Given the description of an element on the screen output the (x, y) to click on. 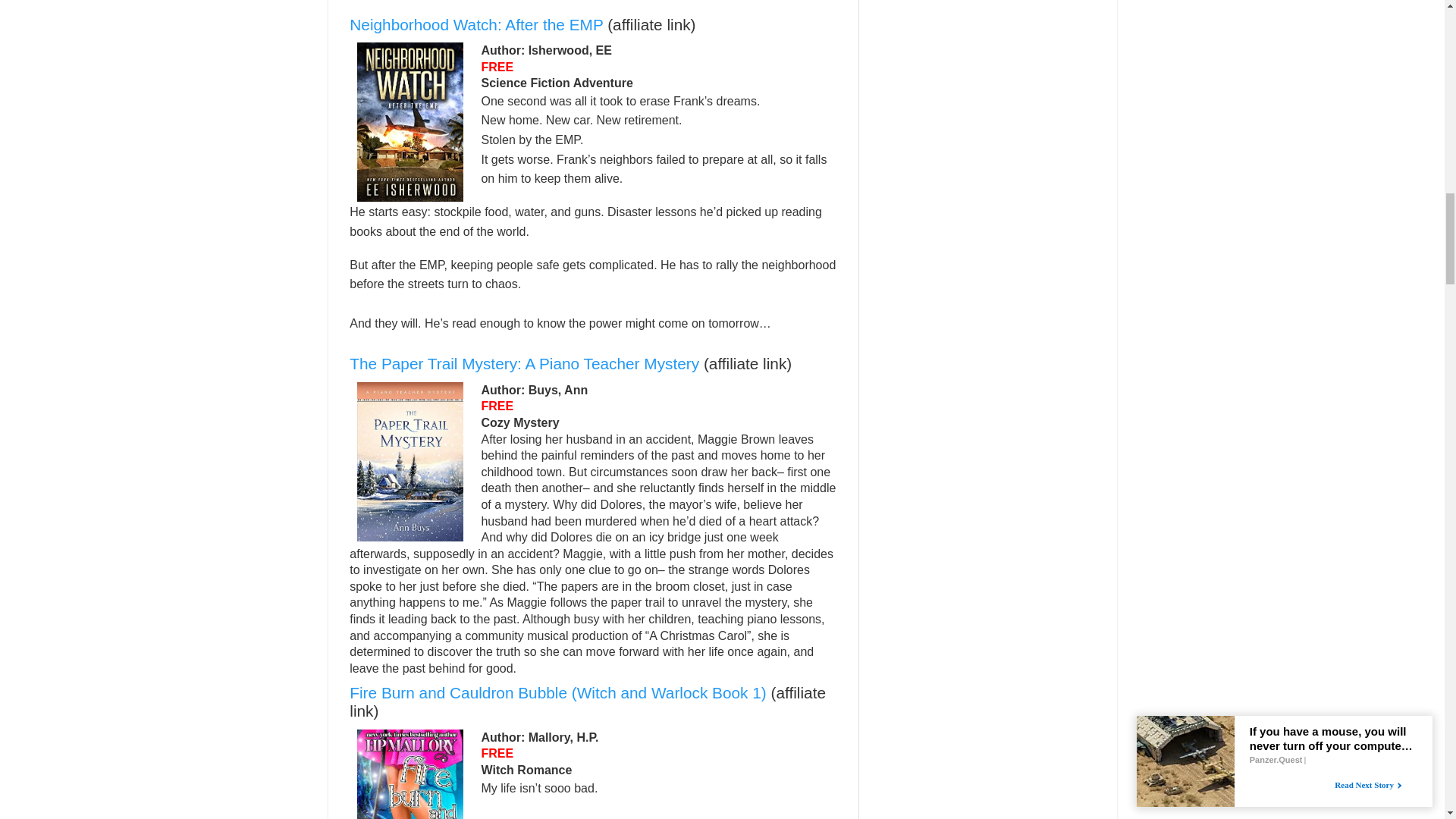
Neighborhood Watch: After the EMP (475, 24)
The Paper Trail Mystery: A Piano Teacher Mystery (523, 363)
